Given the description of an element on the screen output the (x, y) to click on. 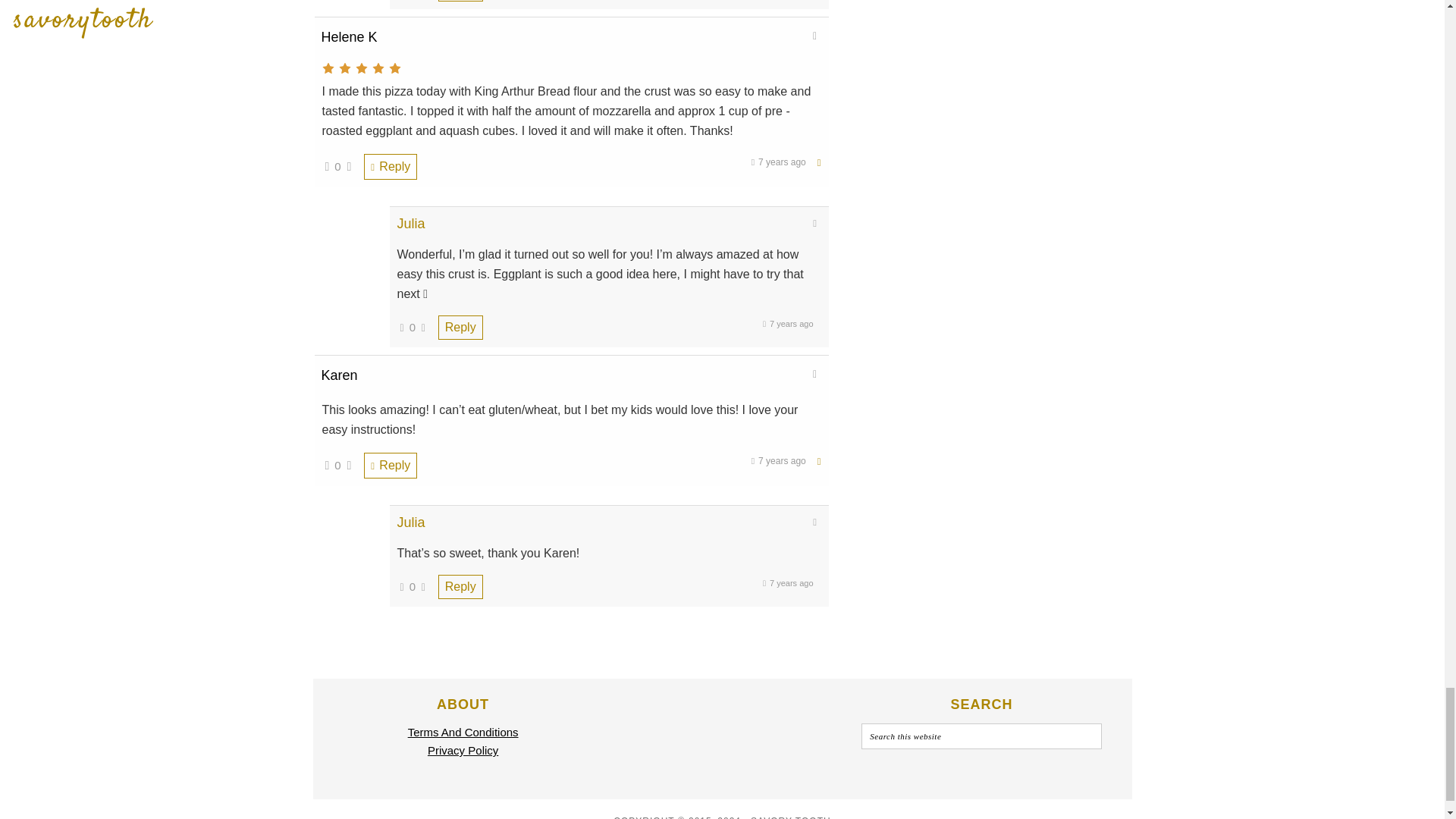
Reply (460, 0)
Reply (390, 166)
